Given the description of an element on the screen output the (x, y) to click on. 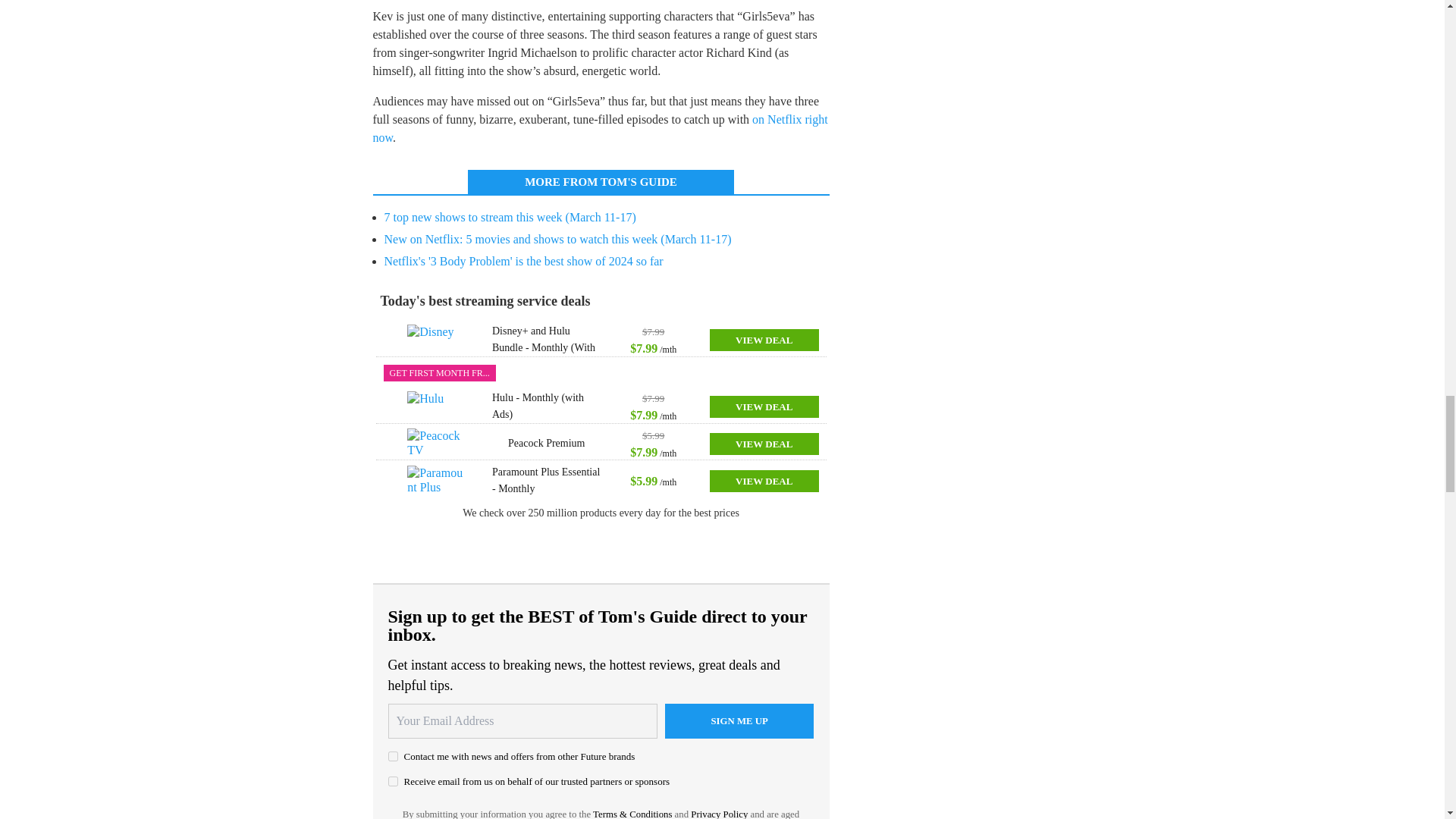
on (392, 781)
on (392, 756)
Hulu (437, 406)
Paramount Plus (437, 481)
Peacock TV (437, 443)
Get first month free (440, 372)
Disney (437, 339)
Sign me up (739, 720)
